Given the description of an element on the screen output the (x, y) to click on. 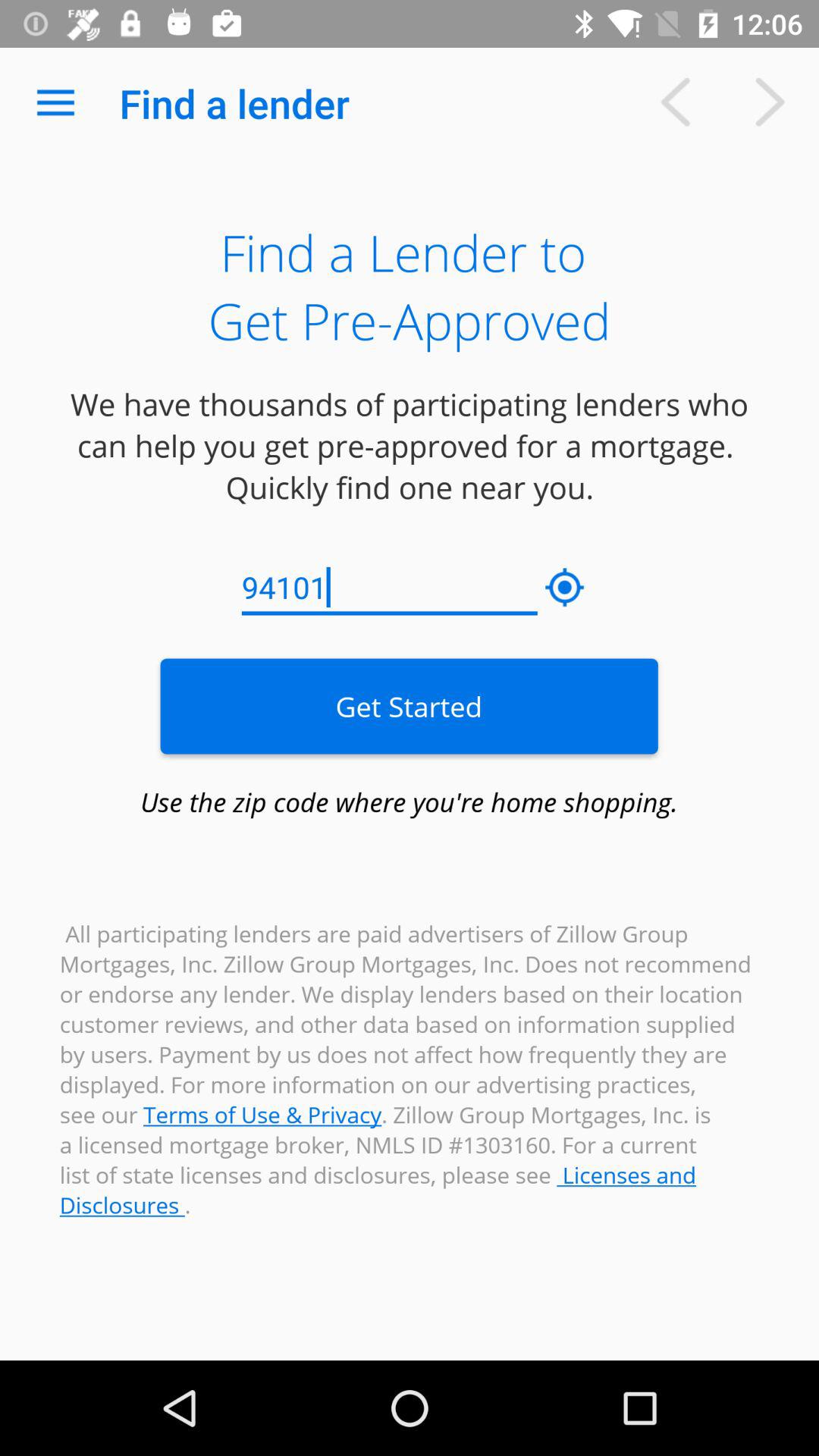
jump until 94101 icon (389, 588)
